Given the description of an element on the screen output the (x, y) to click on. 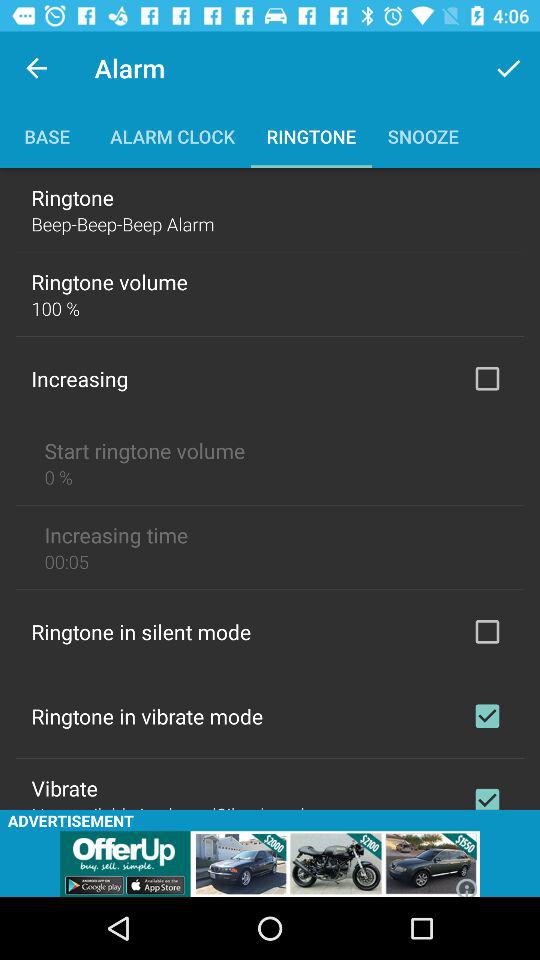
click to view add (270, 864)
